Given the description of an element on the screen output the (x, y) to click on. 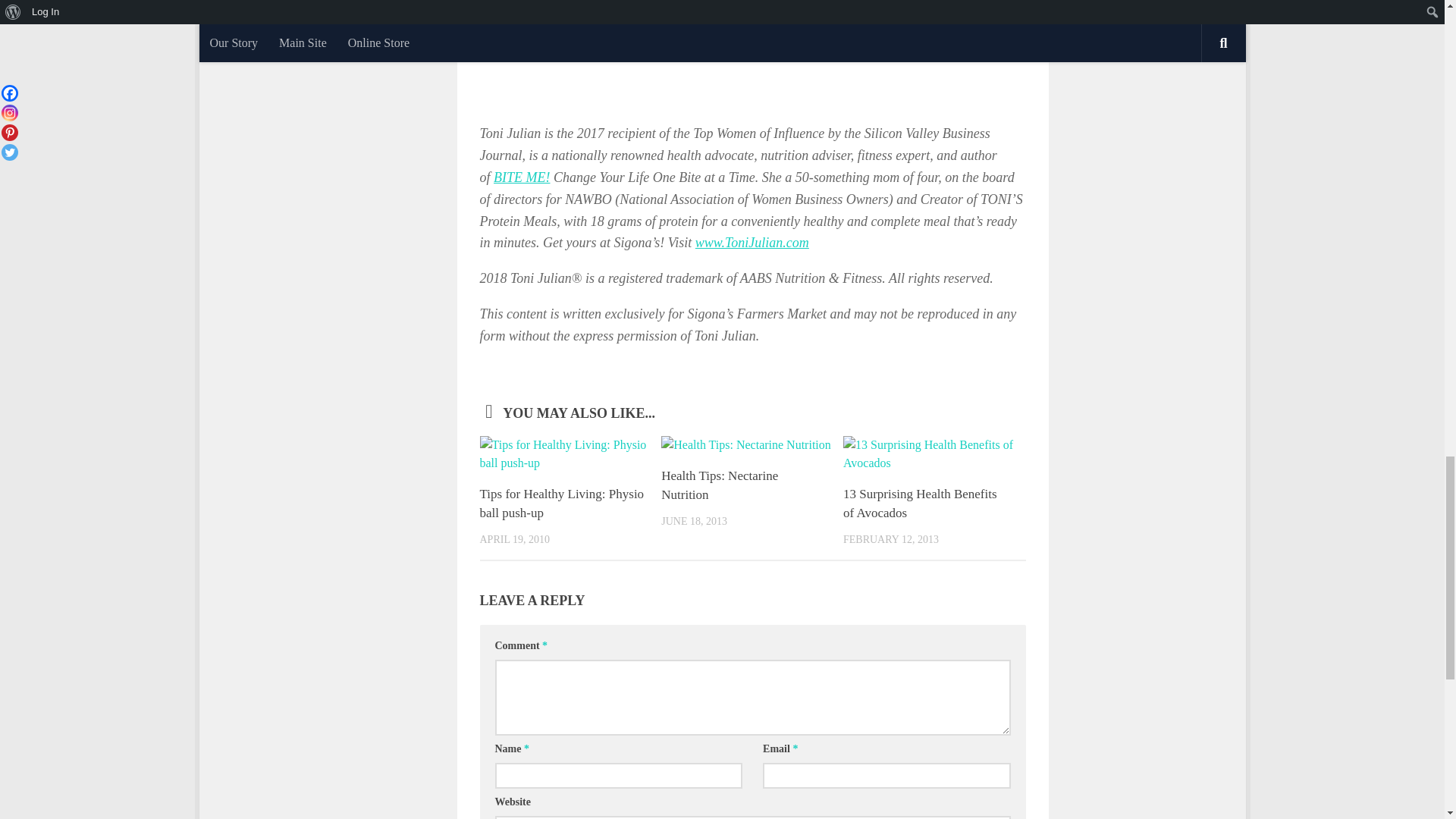
Health Tips: Nectarine Nutrition (719, 485)
13 Surprising Health Benefits of Avocados (920, 503)
BITE ME! (521, 177)
Permalink to Health Tips: Nectarine Nutrition (719, 485)
Permalink to Tips for Healthy Living: Physio ball push-up (561, 503)
Tips for Healthy Living: Physio ball push-up (561, 503)
www.ToniJulian.com (752, 242)
